Given the description of an element on the screen output the (x, y) to click on. 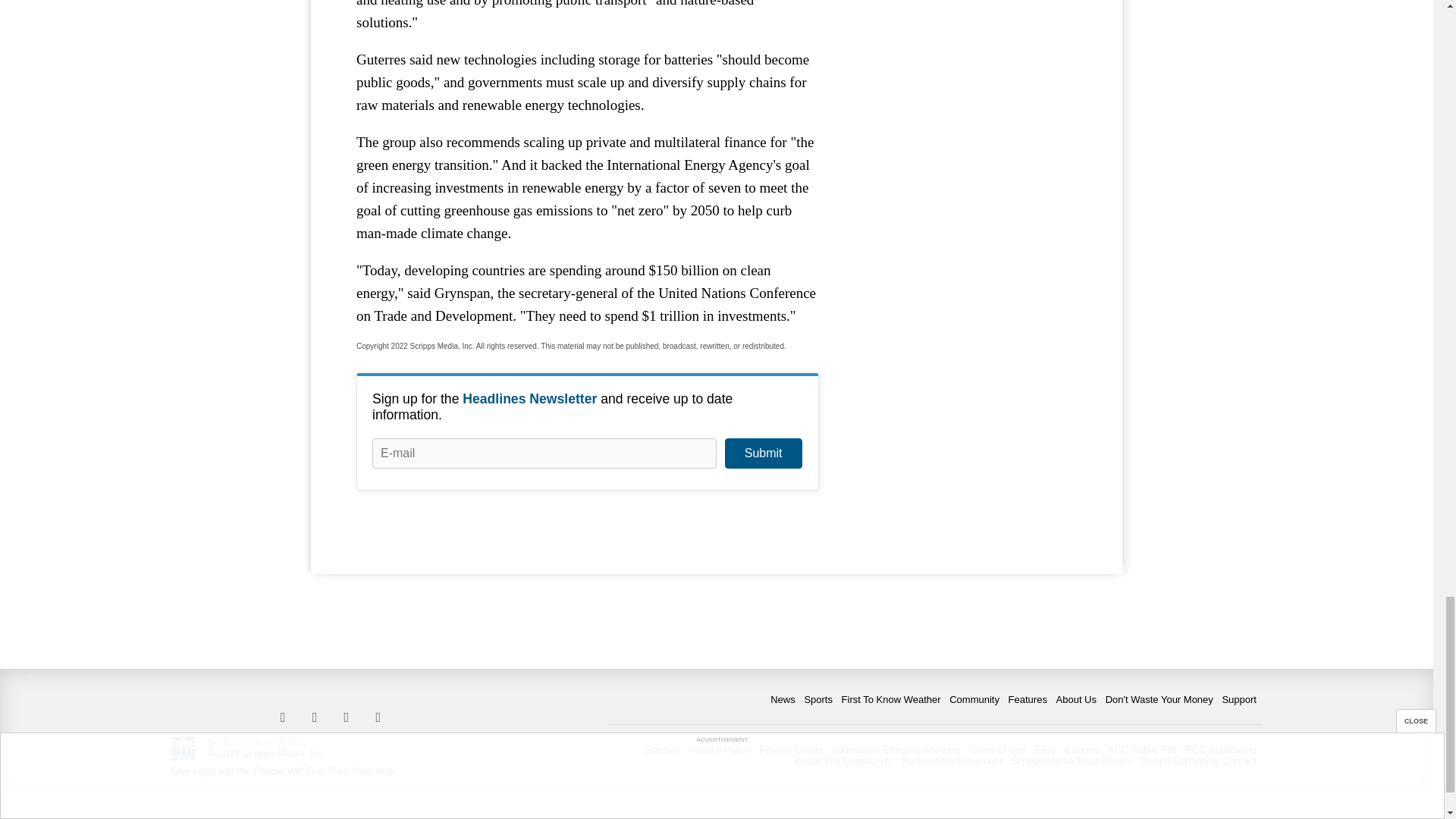
Submit (763, 453)
